Given the description of an element on the screen output the (x, y) to click on. 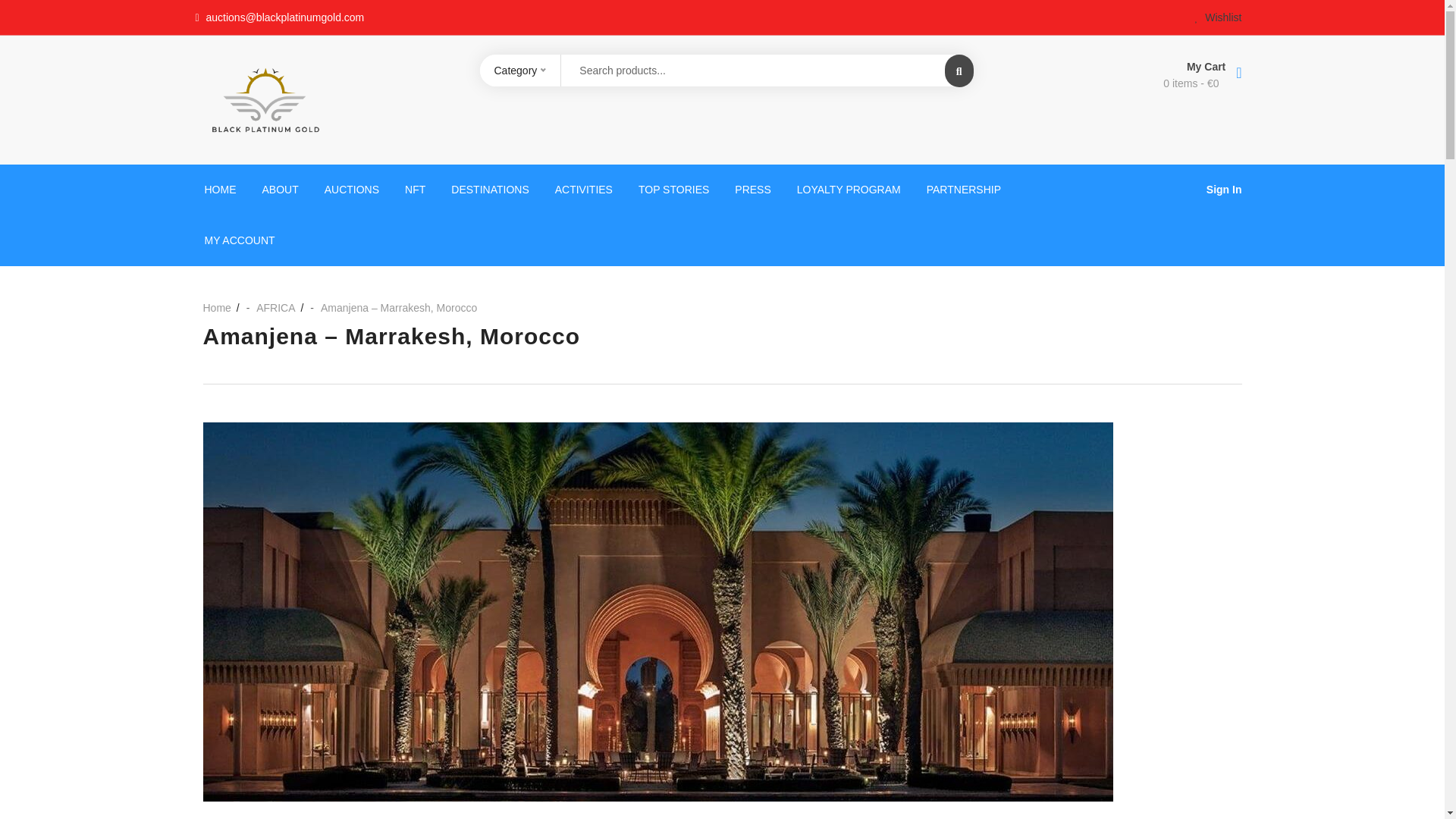
Register (780, 521)
ABOUT (279, 189)
Wishlist (1218, 17)
View your shopping cart (1112, 83)
My Cart (1112, 65)
AUCTIONS (351, 189)
NFT (414, 189)
DESTINATIONS (489, 189)
Log in (442, 514)
HOME (219, 189)
